Given the description of an element on the screen output the (x, y) to click on. 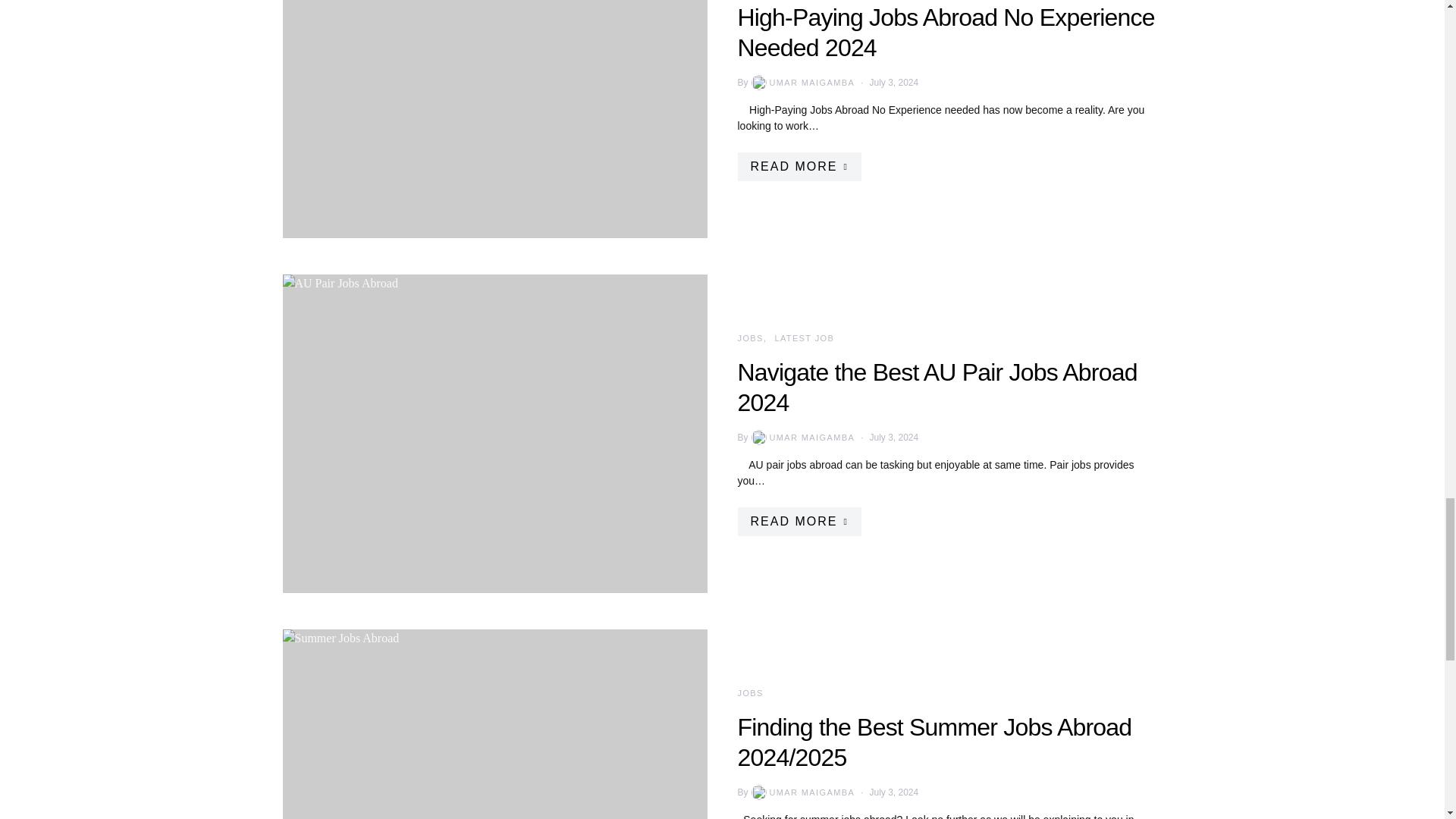
View all posts by Umar Maigamba (802, 437)
View all posts by Umar Maigamba (802, 792)
View all posts by Umar Maigamba (802, 82)
